Given the description of an element on the screen output the (x, y) to click on. 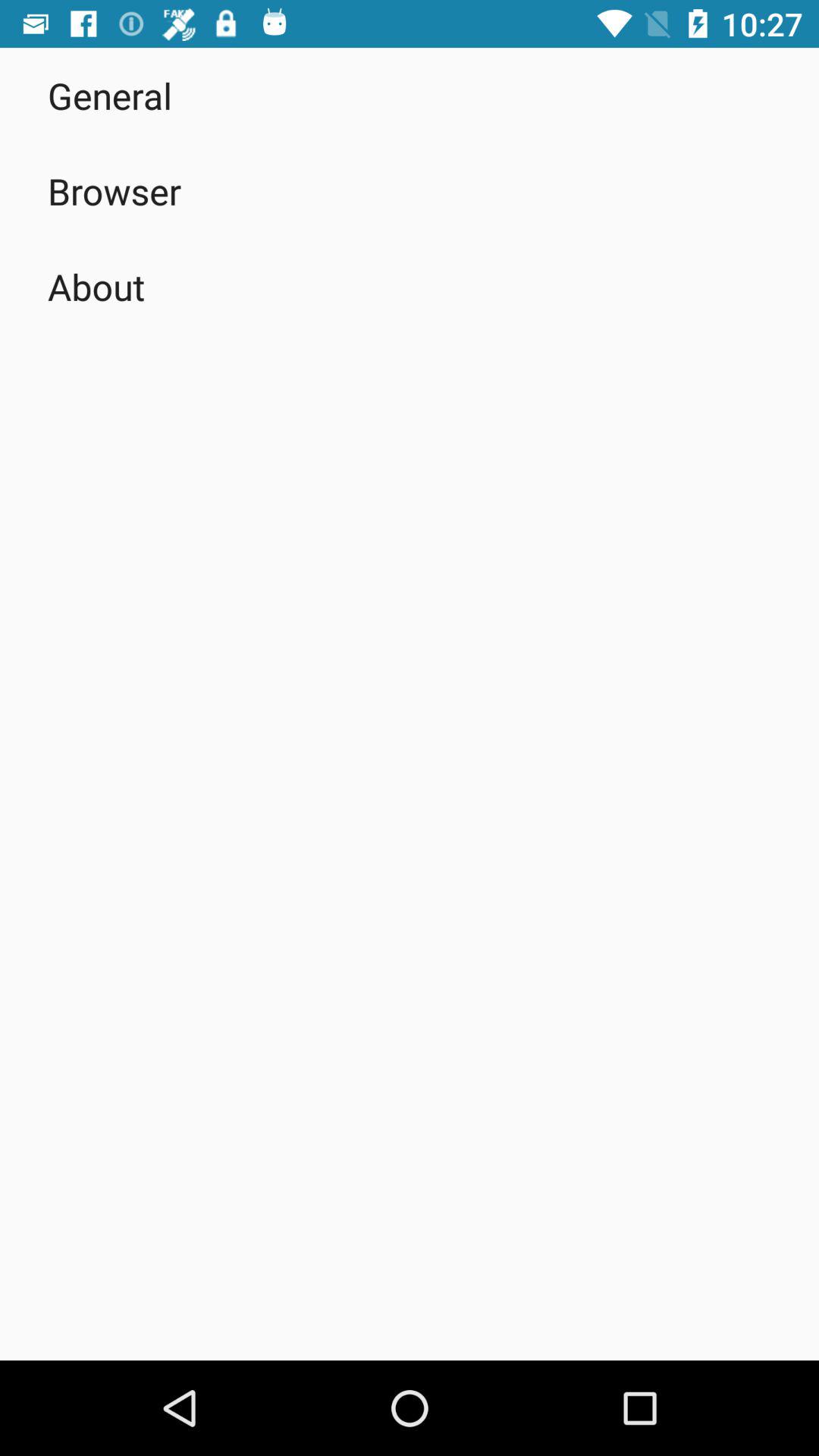
open the item above the browser item (109, 95)
